Given the description of an element on the screen output the (x, y) to click on. 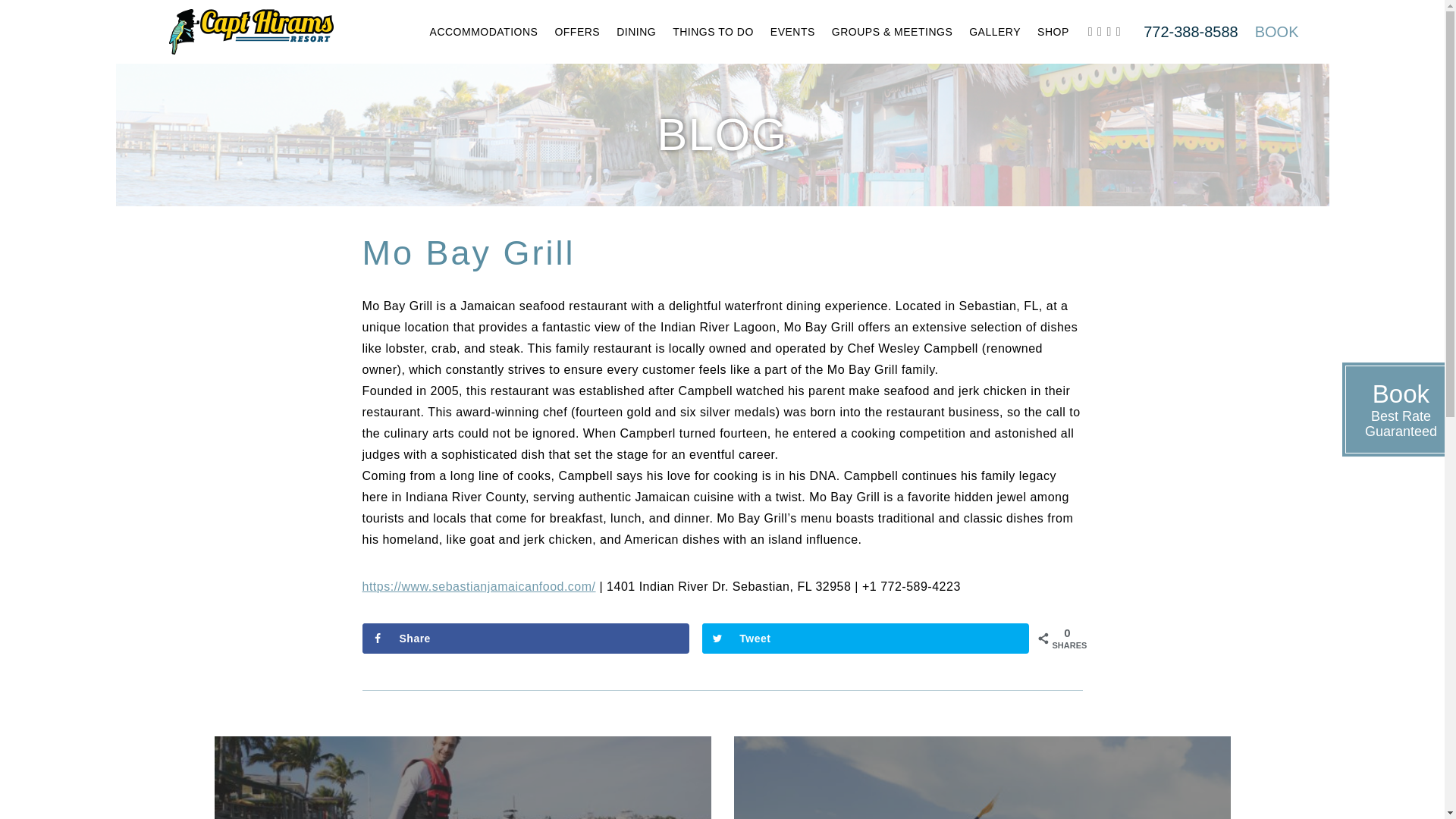
BOOK (1276, 31)
Share on Facebook (525, 638)
Share (525, 638)
THINGS TO DO (712, 31)
Share on Twitter (865, 638)
Tweet (865, 638)
DINING (635, 31)
GALLERY (994, 31)
772-388-8588 (1190, 31)
SHOP (1053, 31)
ACCOMMODATIONS (484, 31)
EVENTS (792, 31)
htt (369, 585)
OFFERS (981, 777)
OFFERS (577, 31)
